Given the description of an element on the screen output the (x, y) to click on. 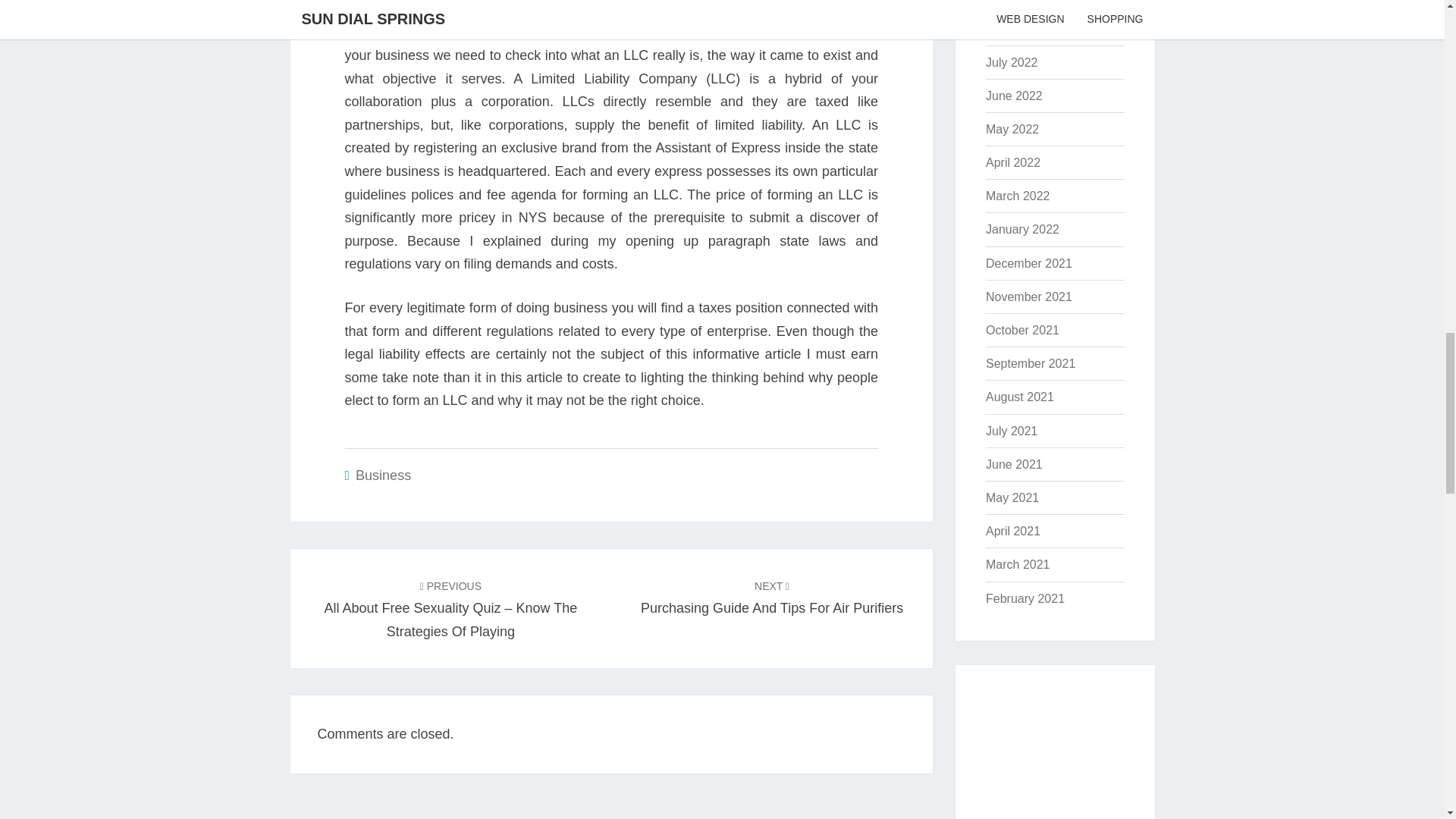
December 2021 (1028, 263)
May 2022 (771, 597)
January 2022 (1012, 128)
April 2022 (1022, 228)
July 2022 (1013, 162)
September 2022 (1011, 62)
August 2022 (1030, 0)
Business (1019, 28)
June 2022 (382, 475)
March 2022 (1013, 95)
